Given the description of an element on the screen output the (x, y) to click on. 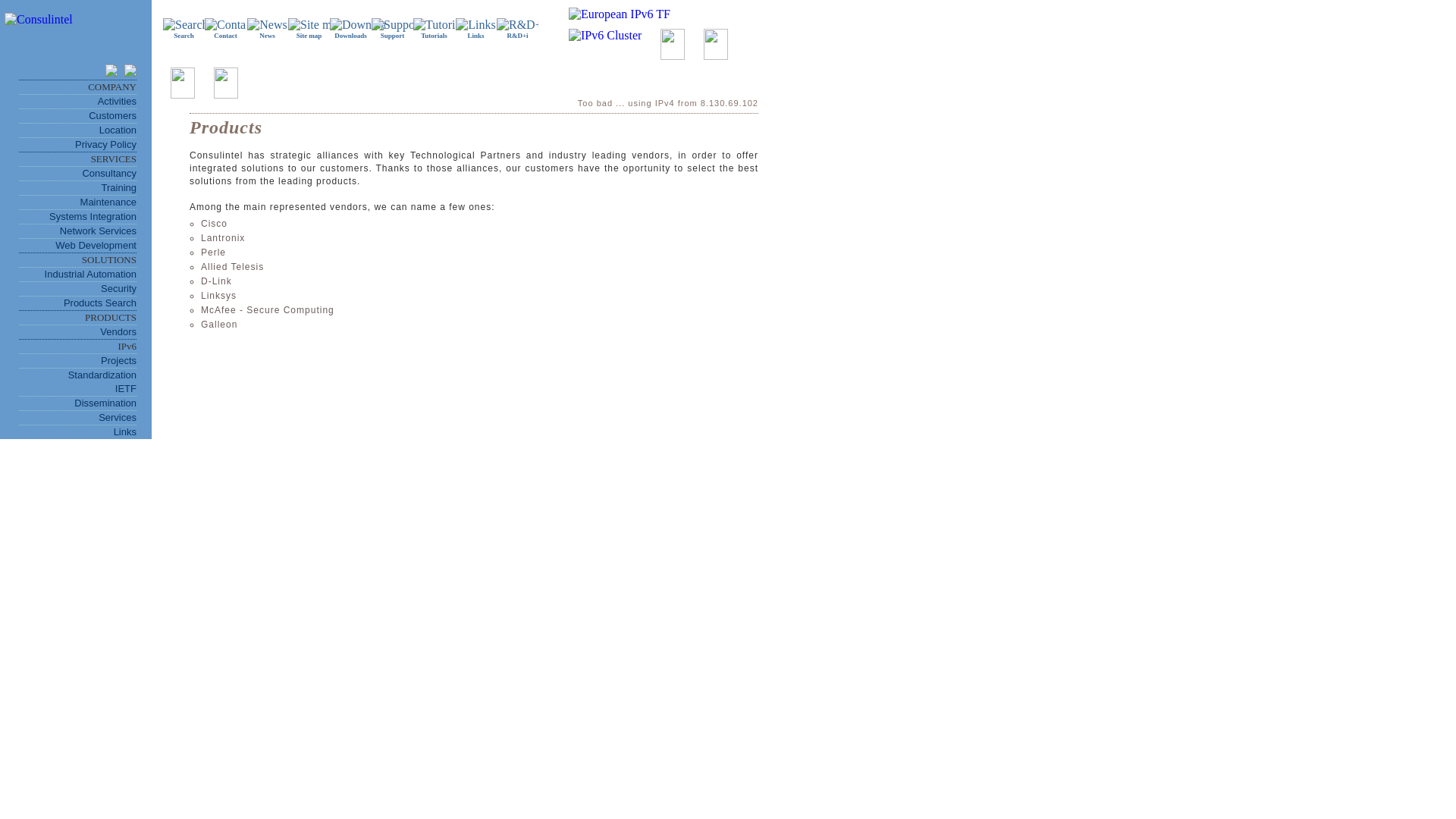
Standardization (102, 374)
IPv6 (126, 346)
Services (117, 417)
Location (117, 129)
Consultancy (108, 173)
Products Search (100, 302)
Privacy Policy (105, 143)
Network Services (97, 230)
IETF (125, 388)
Web Development (95, 244)
SOLUTIONS (108, 259)
Maintenance (108, 202)
PRODUCTS (110, 317)
COMPANY (111, 86)
Systems Integration (92, 215)
